Given the description of an element on the screen output the (x, y) to click on. 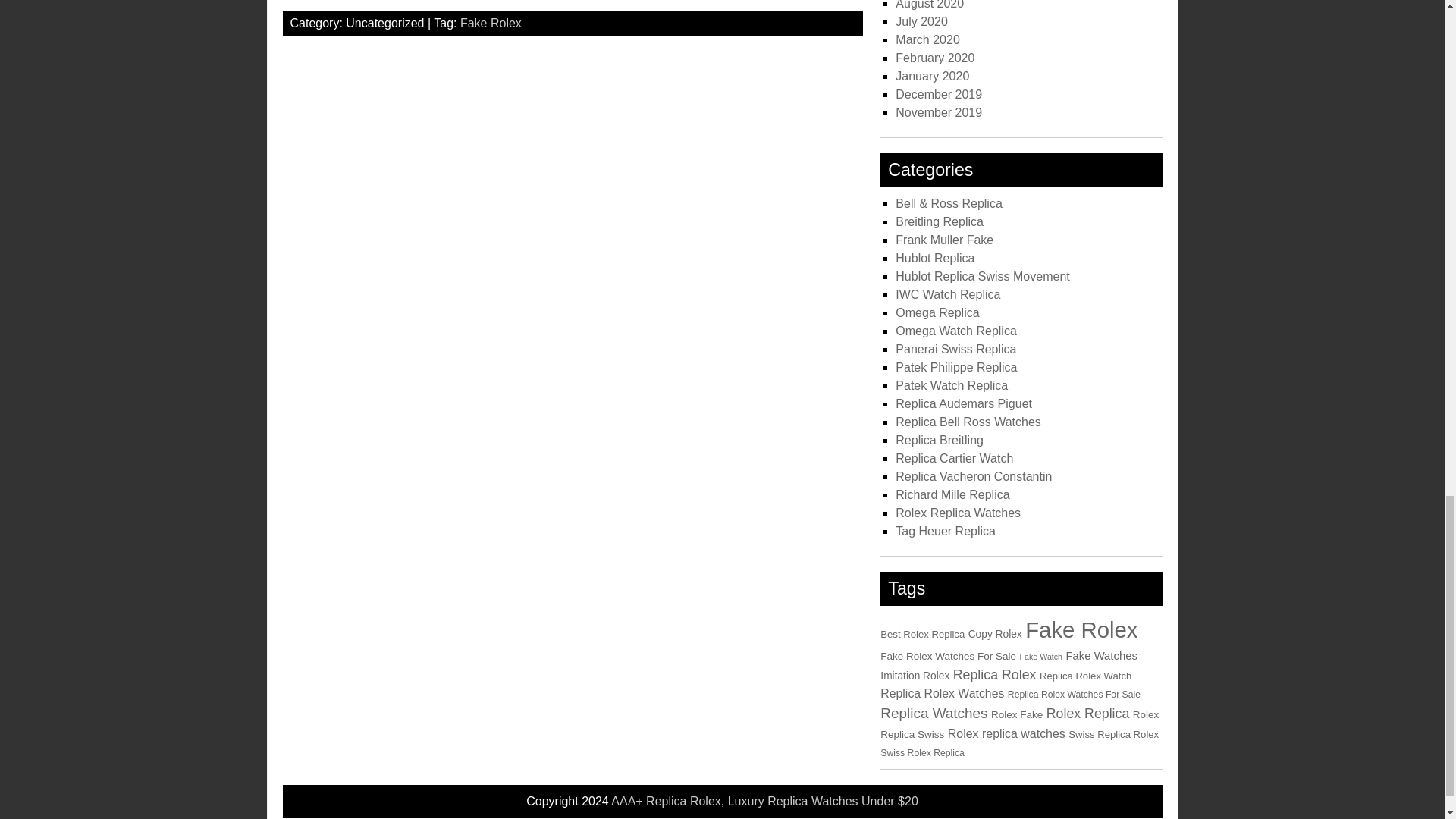
Fake Rolex (490, 22)
